Given the description of an element on the screen output the (x, y) to click on. 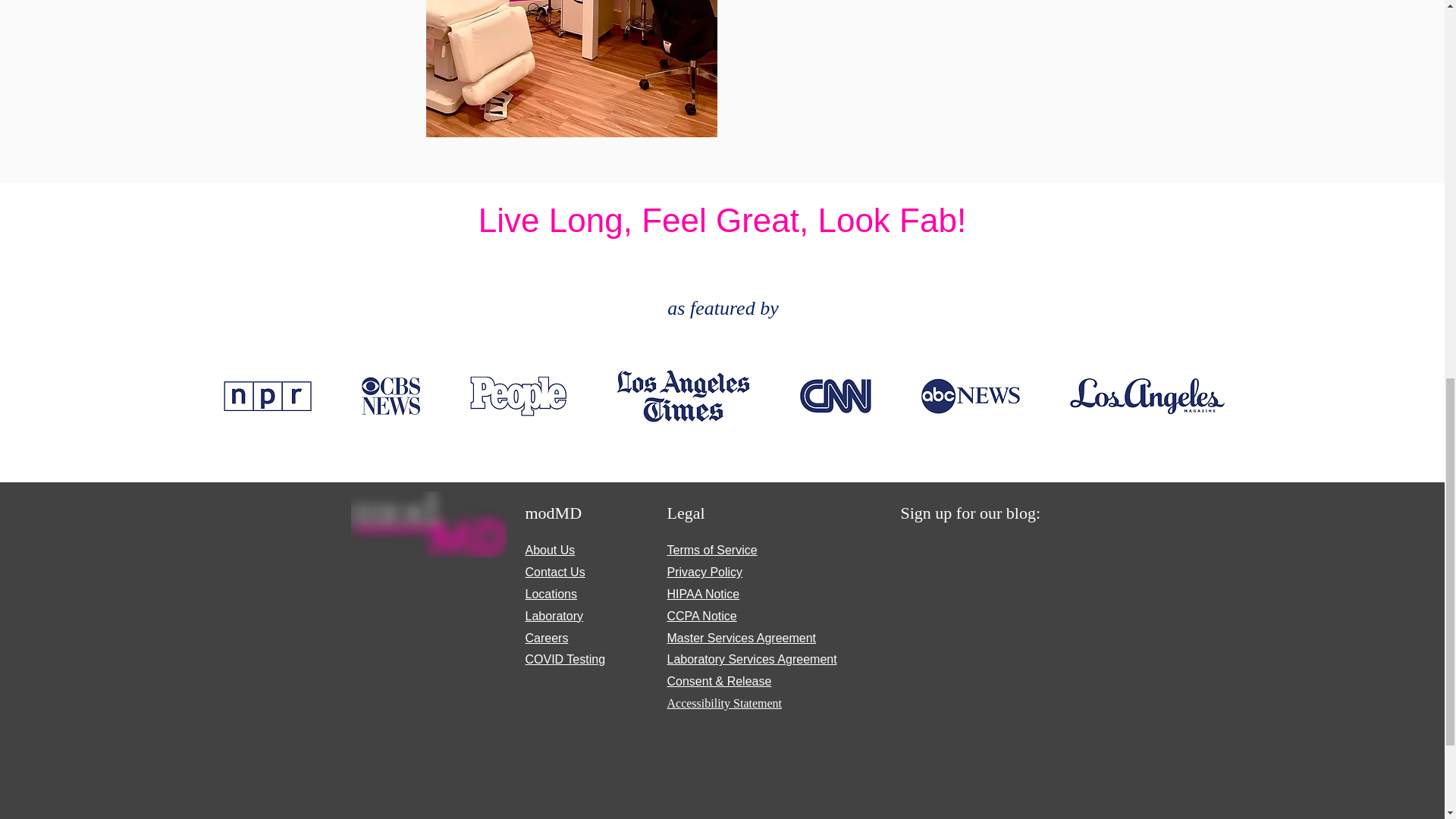
COVID Testing (564, 658)
Careers (545, 637)
Privacy Policy (704, 571)
Contact Us (554, 571)
Terms of Service (711, 549)
Laboratory (553, 615)
Embedded Content (988, 674)
LegitScript Certificiation (438, 630)
Locations (550, 594)
About Us (549, 549)
HIPAA Notice (702, 594)
